Given the description of an element on the screen output the (x, y) to click on. 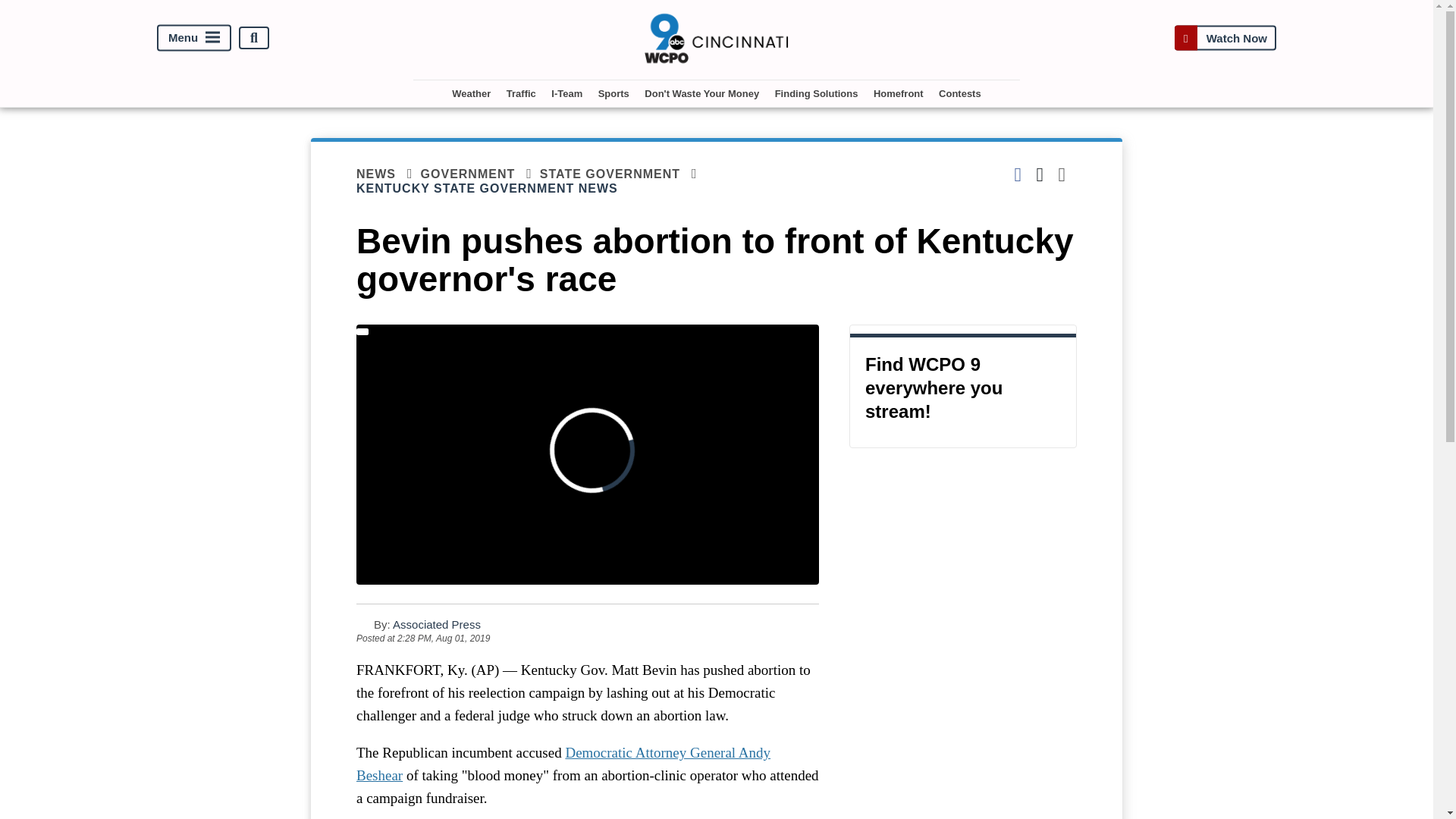
Menu (194, 38)
Watch Now (1224, 38)
